Given the description of an element on the screen output the (x, y) to click on. 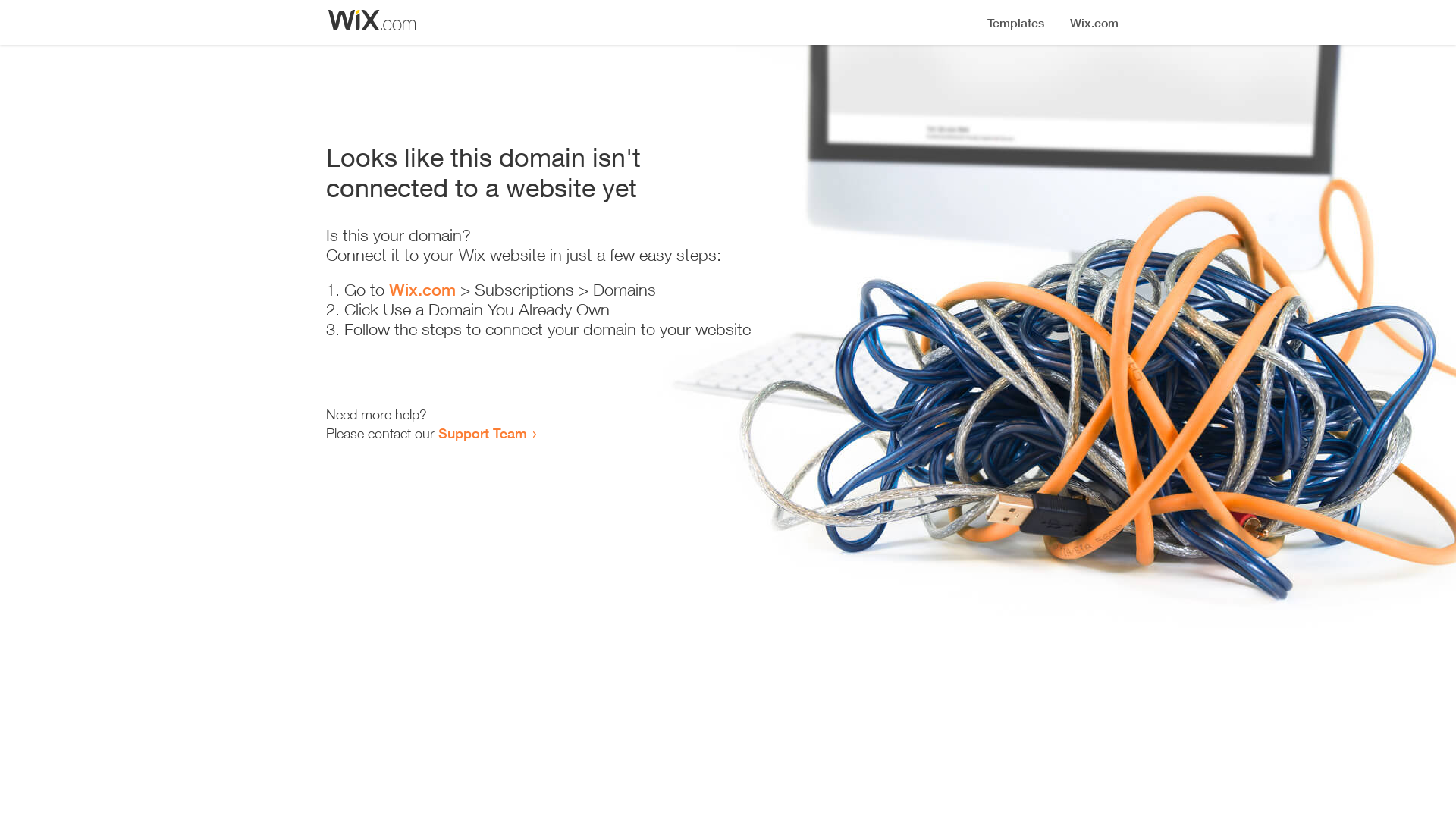
Support Team Element type: text (482, 432)
Wix.com Element type: text (422, 289)
